Given the description of an element on the screen output the (x, y) to click on. 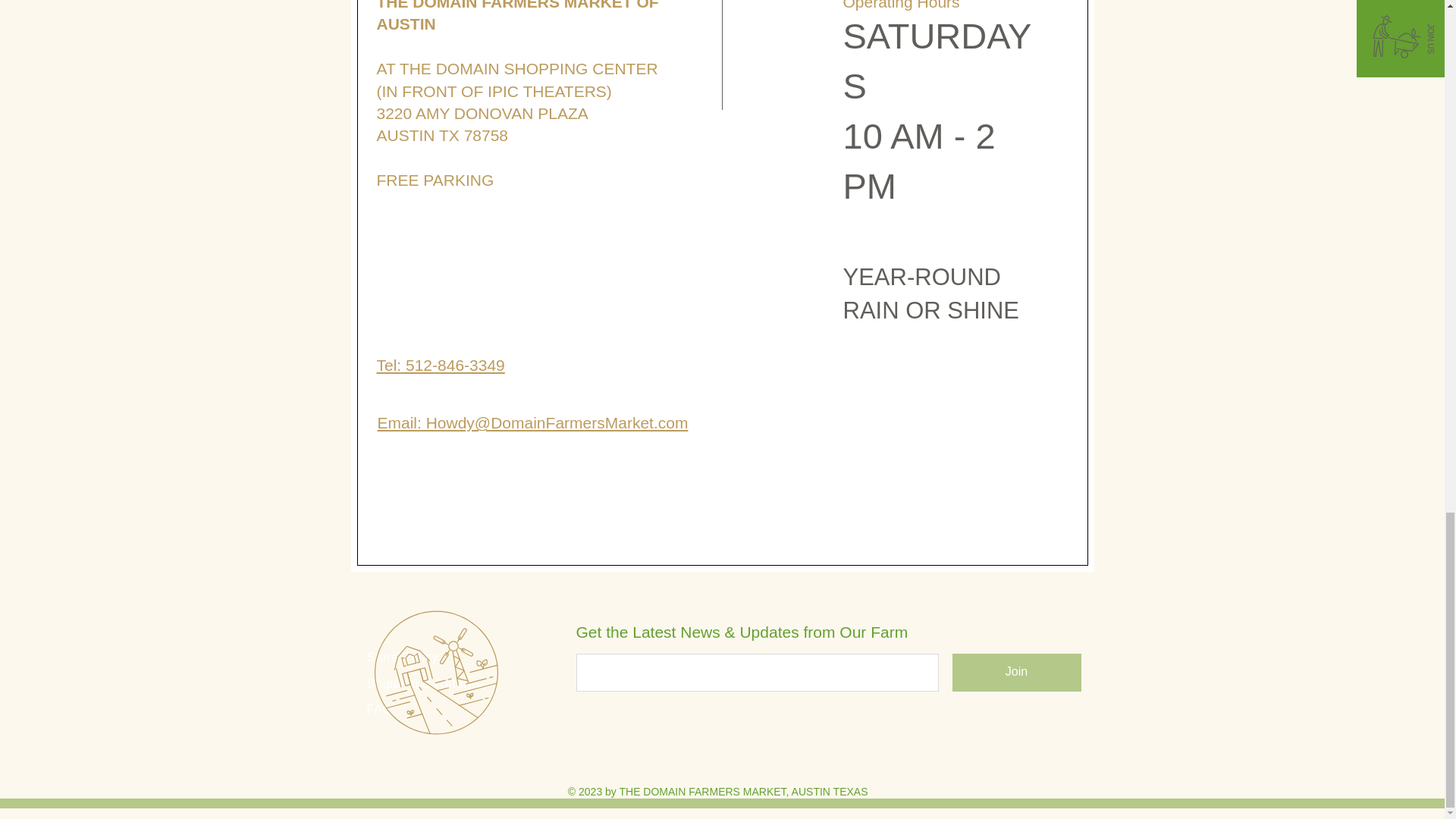
FAQ (379, 708)
Tel: 512-846-3349 (439, 364)
Join (1016, 671)
Store Policy (402, 656)
